Given the description of an element on the screen output the (x, y) to click on. 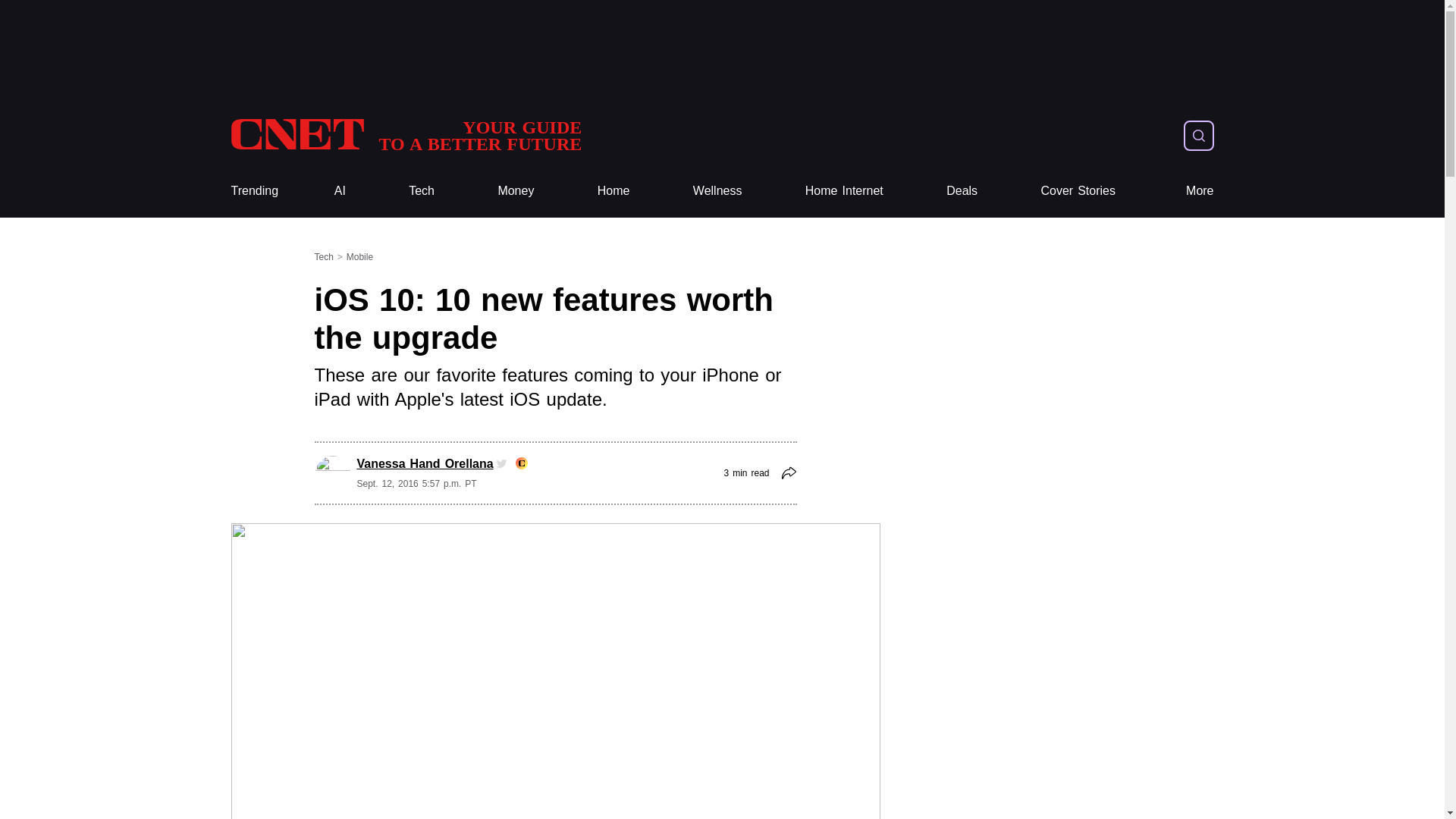
CNET (405, 135)
Home (405, 135)
Tech (613, 190)
Money (421, 190)
Wellness (515, 190)
Wellness (717, 190)
Home Internet (717, 190)
Home Internet (844, 190)
Tech (844, 190)
